Given the description of an element on the screen output the (x, y) to click on. 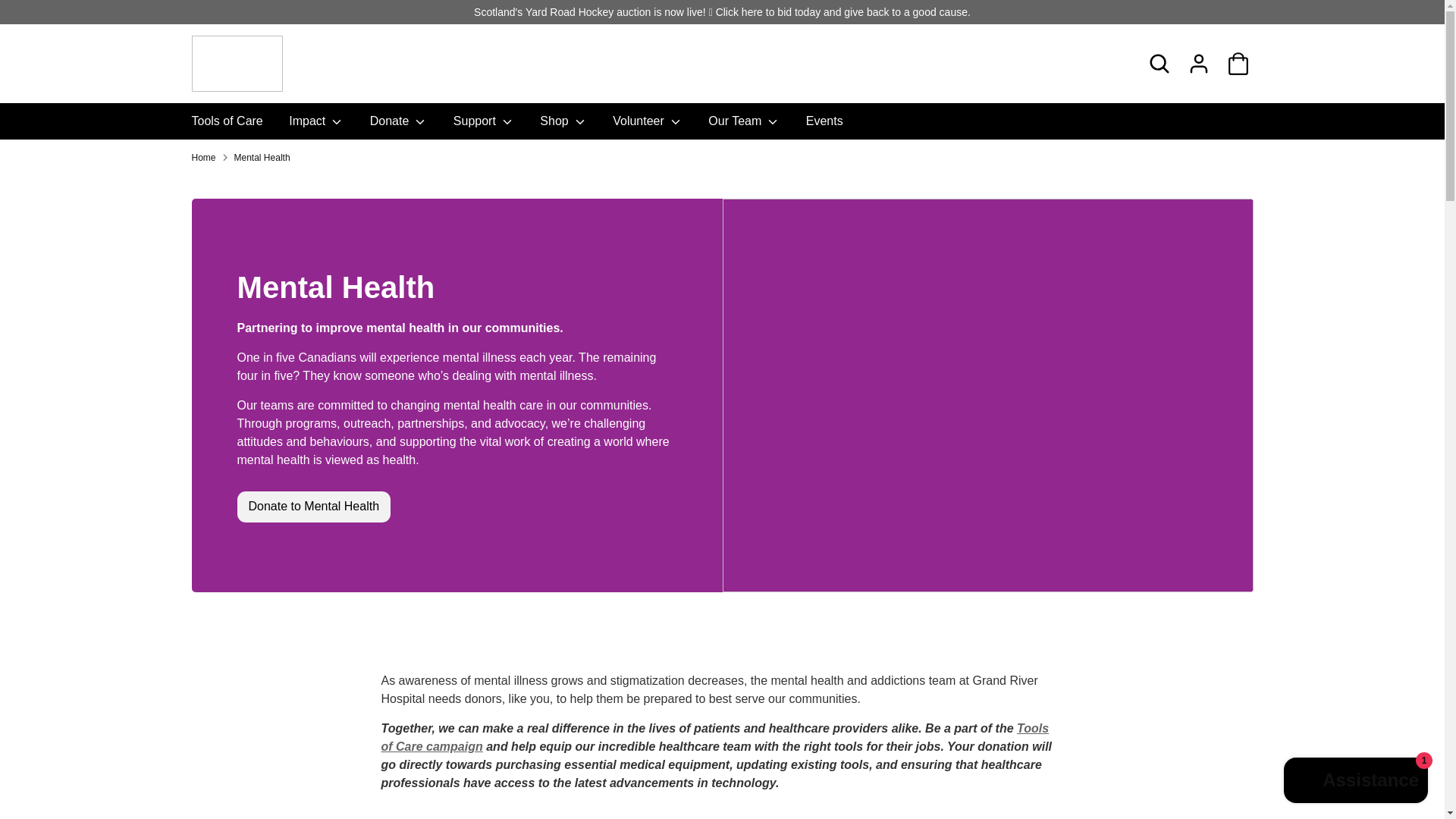
0 (1237, 63)
Shopify online store chat (1355, 781)
Search (1157, 63)
